Given the description of an element on the screen output the (x, y) to click on. 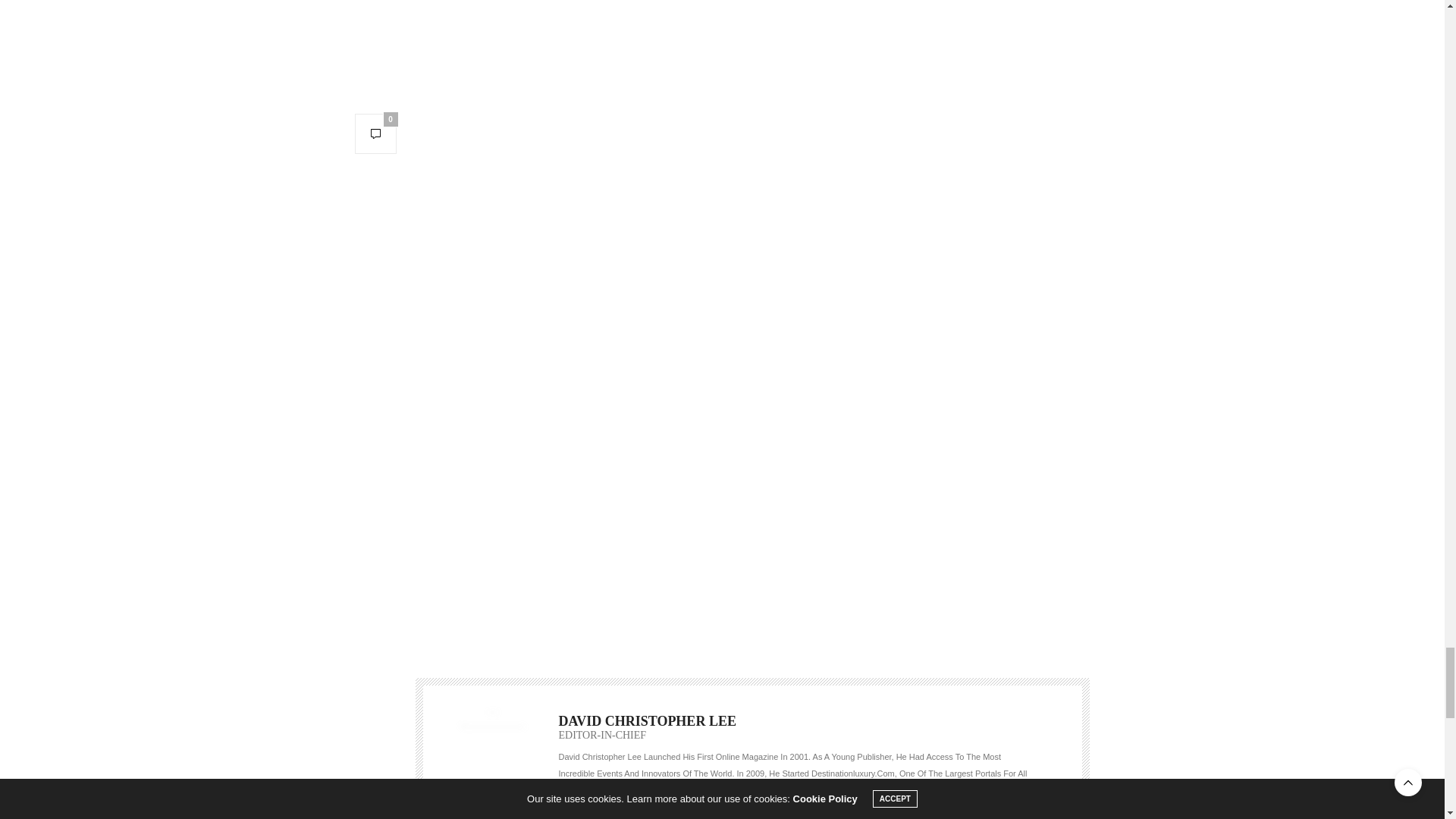
DAVID CHRISTOPHER LEE (646, 720)
